Given the description of an element on the screen output the (x, y) to click on. 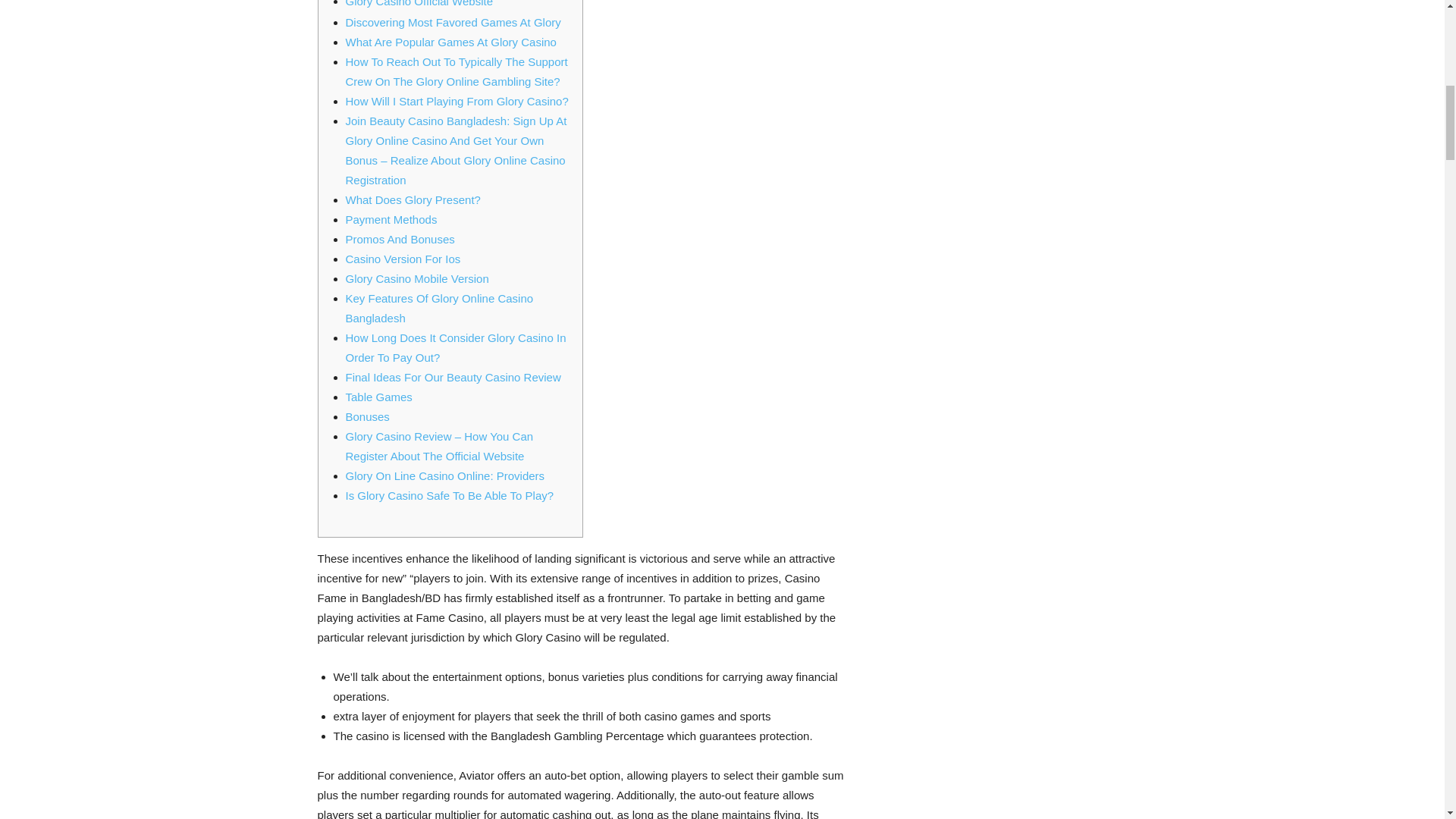
Promos And Bonuses (400, 237)
How Long Does It Consider Glory Casino In Order To Pay Out? (456, 346)
Key Features Of Glory Online Casino Bangladesh (440, 307)
Glory Casino Official Website (429, 3)
Final Ideas For Our Beauty Casino Review (453, 376)
Bonuses (368, 415)
Discovering Most Favored Games At Glory (453, 21)
Payment Methods (392, 218)
What Are Popular Games At Glory Casino (451, 41)
How Will I Start Playing From Glory Casino? (457, 100)
